Given the description of an element on the screen output the (x, y) to click on. 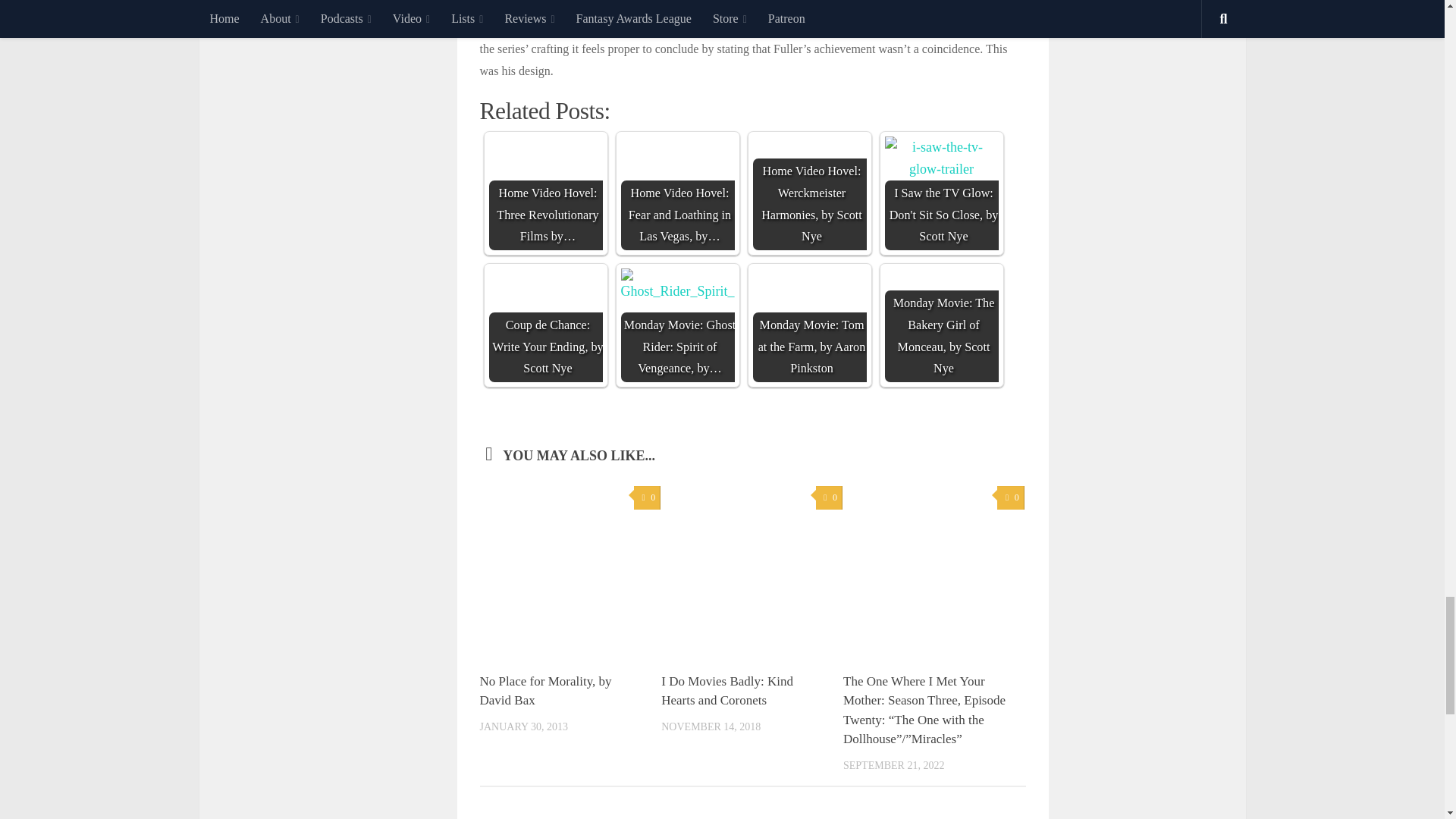
I Saw the TV Glow: Don't Sit So Close, by Scott Nye (940, 158)
Home Video Hovel: Werckmeister Harmonies, by Scott Nye (809, 193)
Coup de Chance: Write Your Ending, by Scott Nye (544, 325)
Monday Movie: Tom at the Farm, by Aaron Pinkston (809, 325)
Monday Movie: The Bakery Girl of Monceau, by Scott Nye (940, 325)
